Given the description of an element on the screen output the (x, y) to click on. 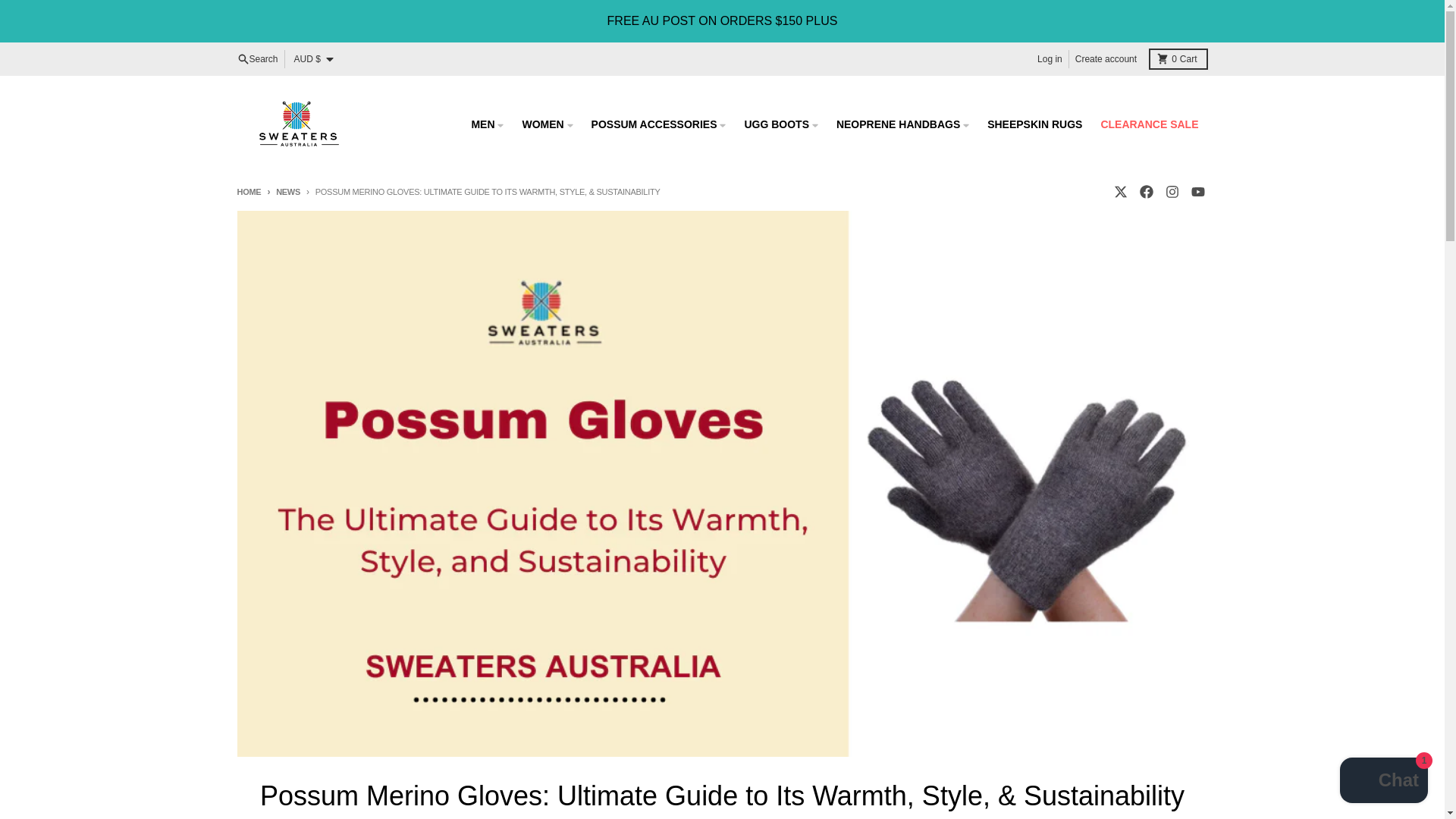
Twitter - Sweaters Australia (1119, 191)
Log in (1049, 58)
Create account (1105, 58)
Search (256, 58)
Instagram - Sweaters Australia (1170, 191)
Back to the homepage (1177, 58)
Facebook - Sweaters Australia (247, 190)
Shopify online store chat (1145, 191)
YouTube - Sweaters Australia (1383, 781)
